Given the description of an element on the screen output the (x, y) to click on. 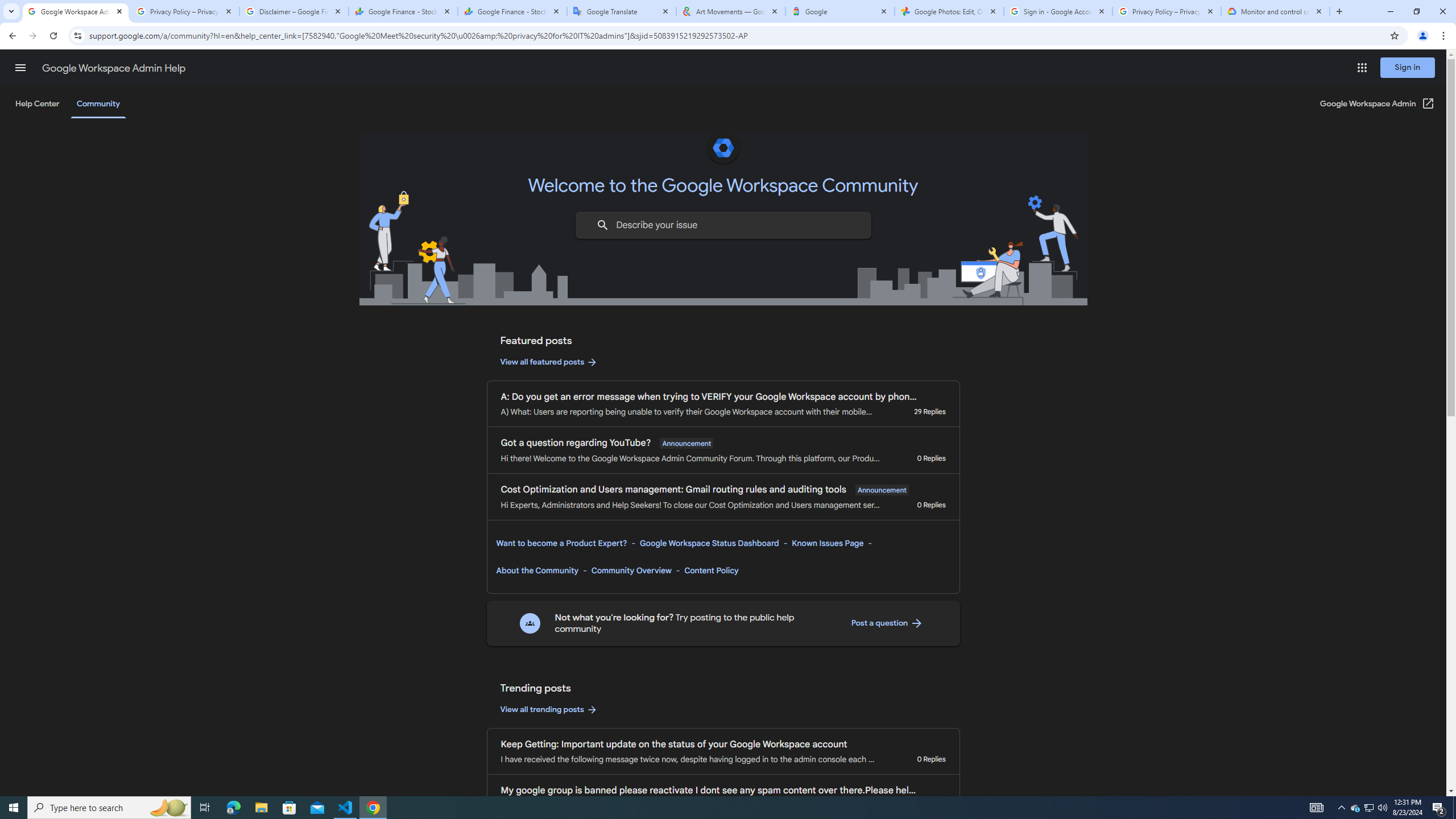
Community Overview (631, 570)
Help Center (36, 103)
Google Workspace Admin Community (75, 11)
